Given the description of an element on the screen output the (x, y) to click on. 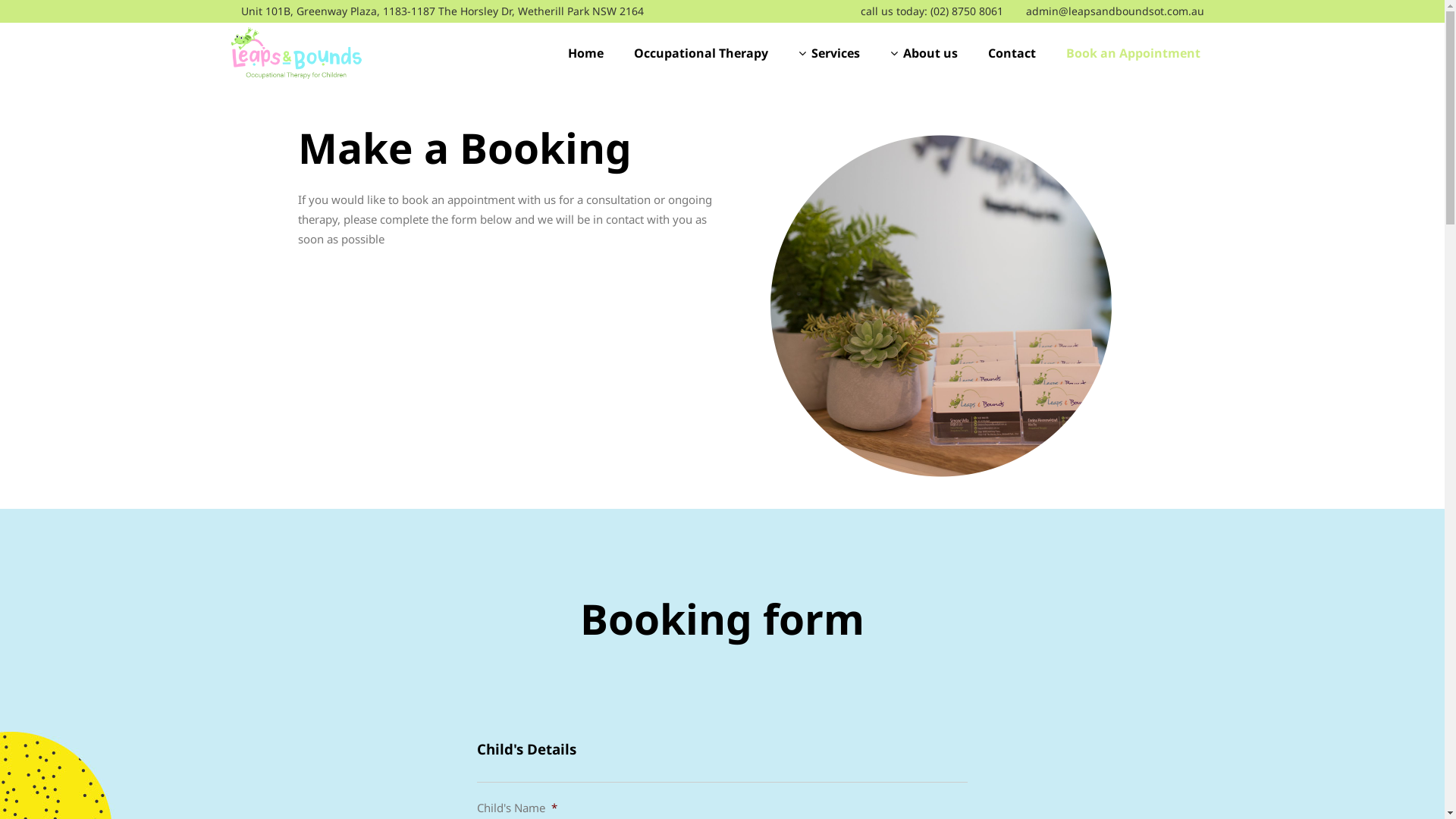
(02) 8750 8061 Element type: text (965, 10)
Contact Element type: text (1011, 52)
admin@leapsandboundsot.com.au Element type: text (1114, 10)
Services Element type: text (828, 52)
Home Element type: text (585, 52)
Book an Appointment Element type: text (1133, 52)
Occupational Therapy Element type: text (700, 52)
Leaps and Bounds Desk 1 Element type: hover (938, 310)
About us Element type: text (923, 52)
